Given the description of an element on the screen output the (x, y) to click on. 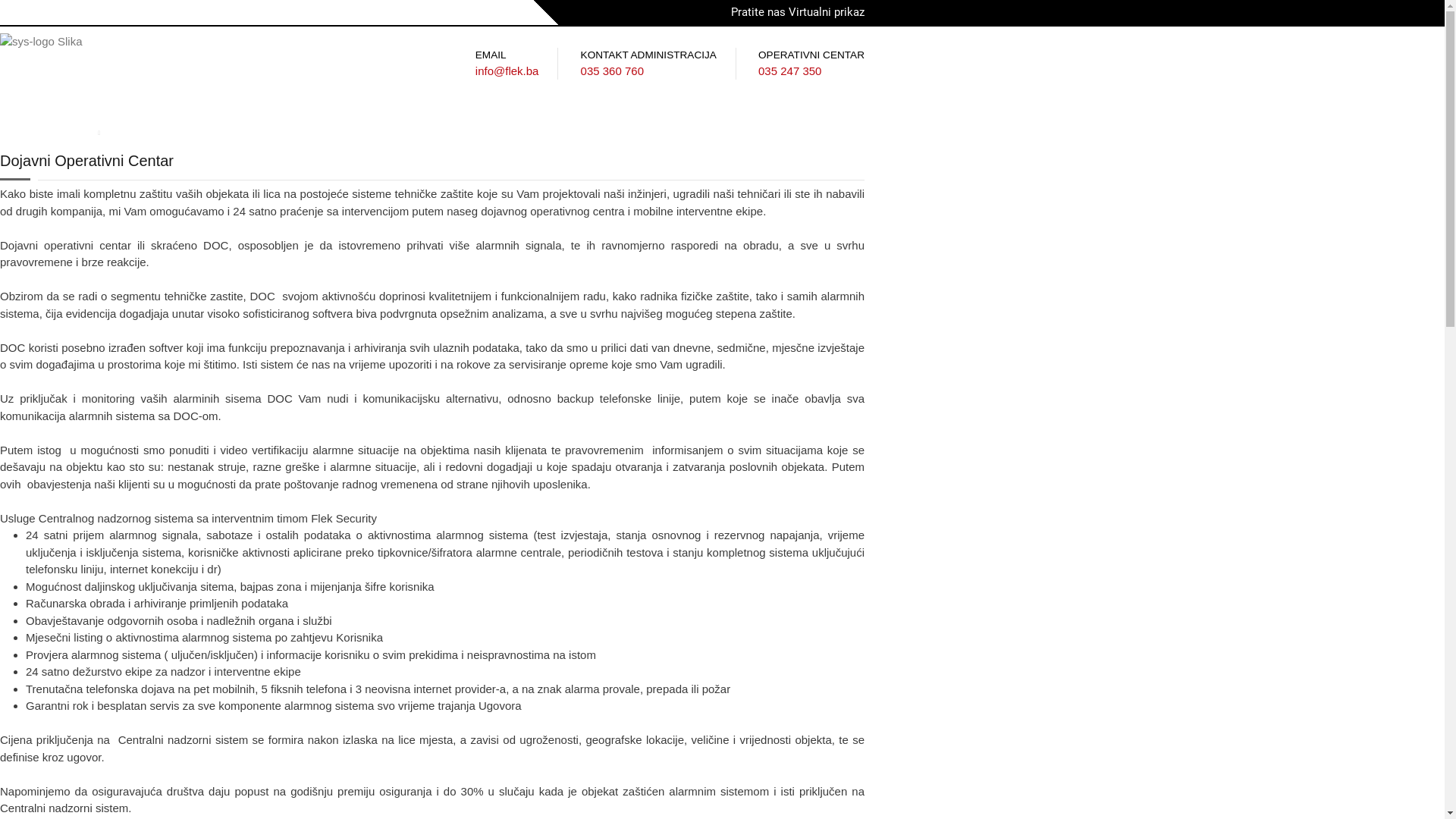
info@flek.ba Element type: text (507, 70)
REFERENCE Element type: text (333, 123)
035 360 760 Element type: text (611, 70)
USLUGE Element type: text (97, 123)
GALERIJA Element type: text (171, 123)
NOVOSTI Element type: text (248, 123)
035 247 350 Element type: text (789, 70)
KONTAKT Element type: text (554, 123)
